Given the description of an element on the screen output the (x, y) to click on. 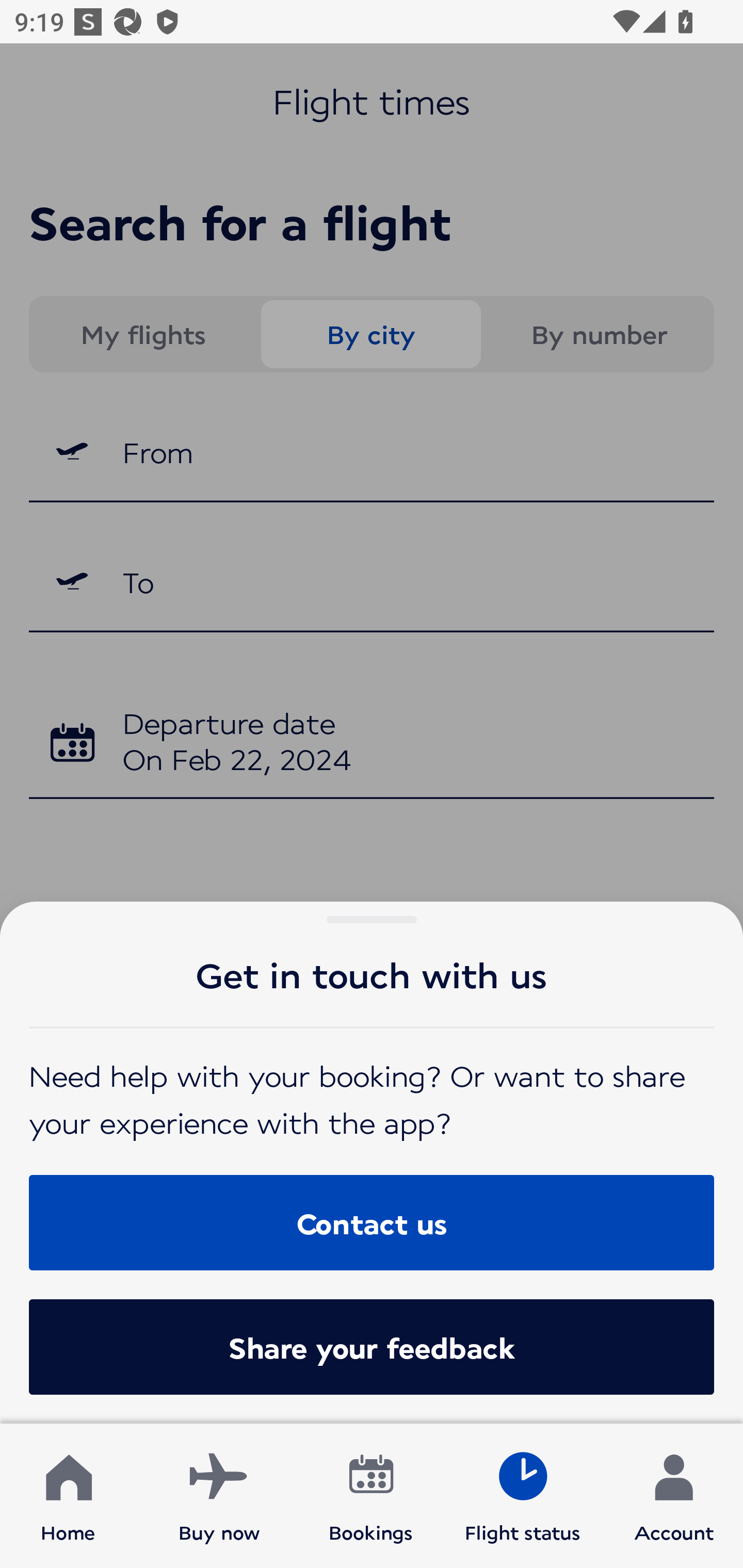
Contact us (371, 1222)
Share your feedback (371, 1346)
Home (68, 1495)
Buy now (219, 1495)
Bookings (370, 1495)
Account (674, 1495)
